Given the description of an element on the screen output the (x, y) to click on. 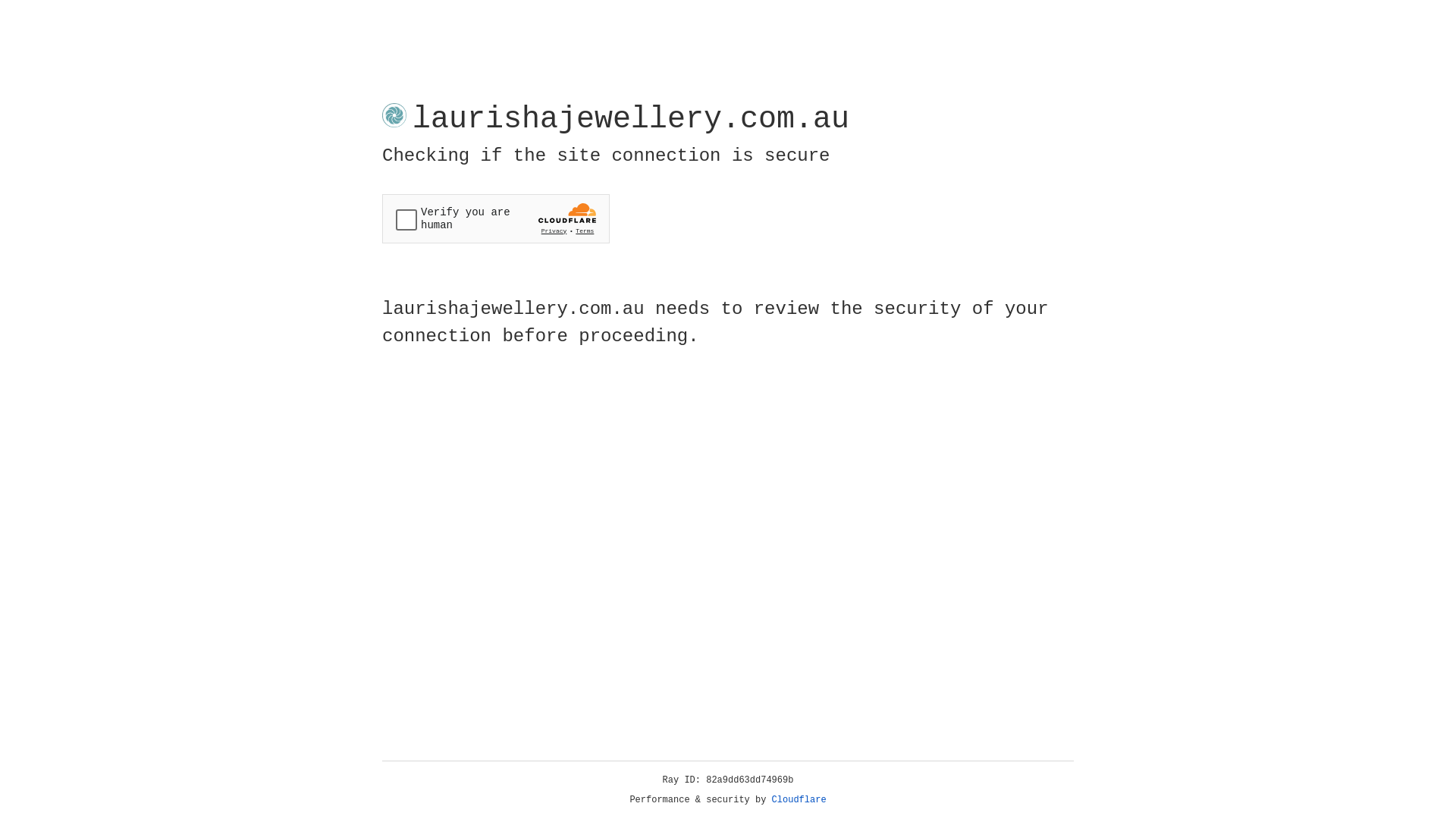
Widget containing a Cloudflare security challenge Element type: hover (495, 218)
Cloudflare Element type: text (798, 799)
